Given the description of an element on the screen output the (x, y) to click on. 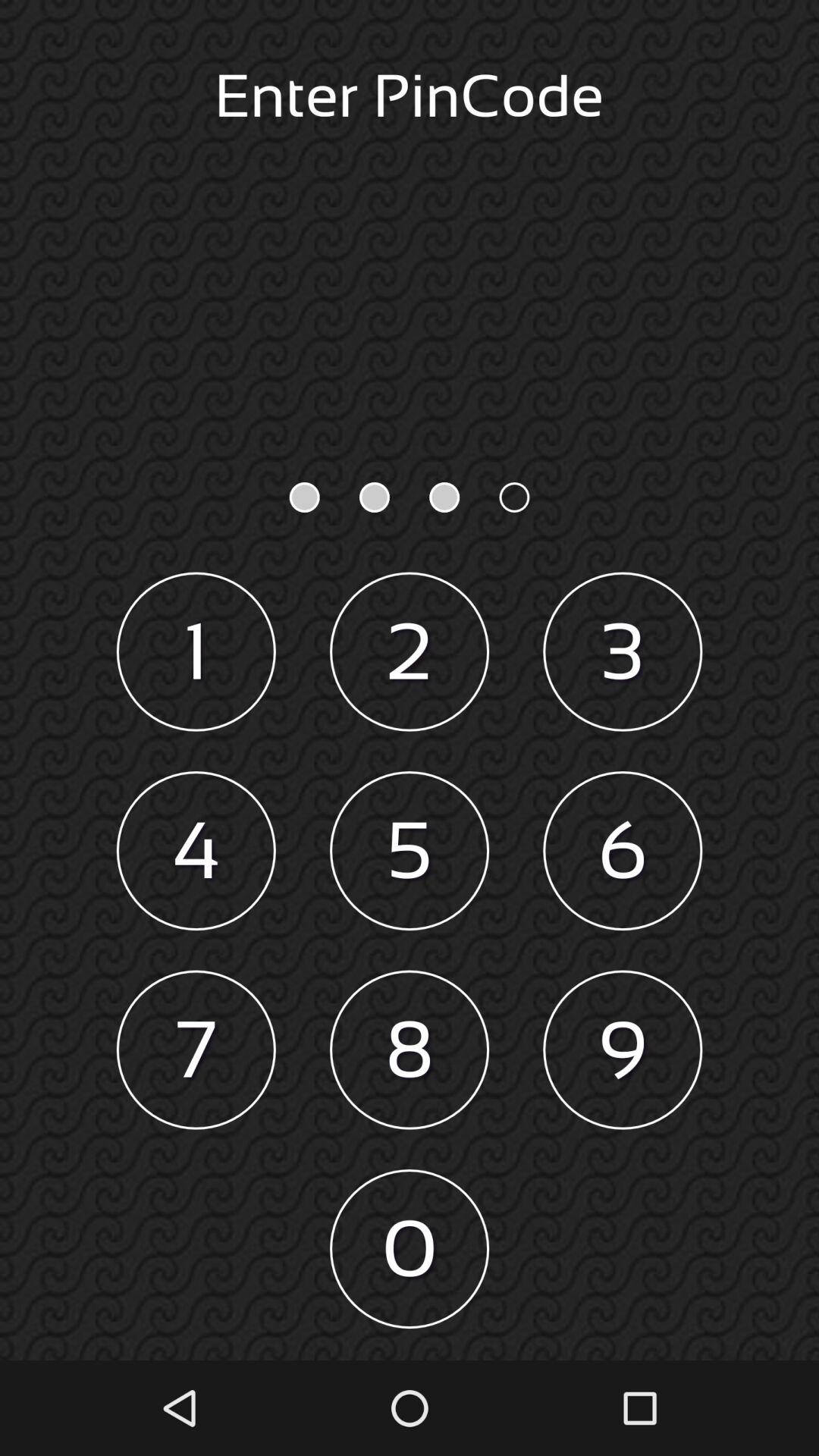
launch the item to the right of the 8 (622, 1049)
